Given the description of an element on the screen output the (x, y) to click on. 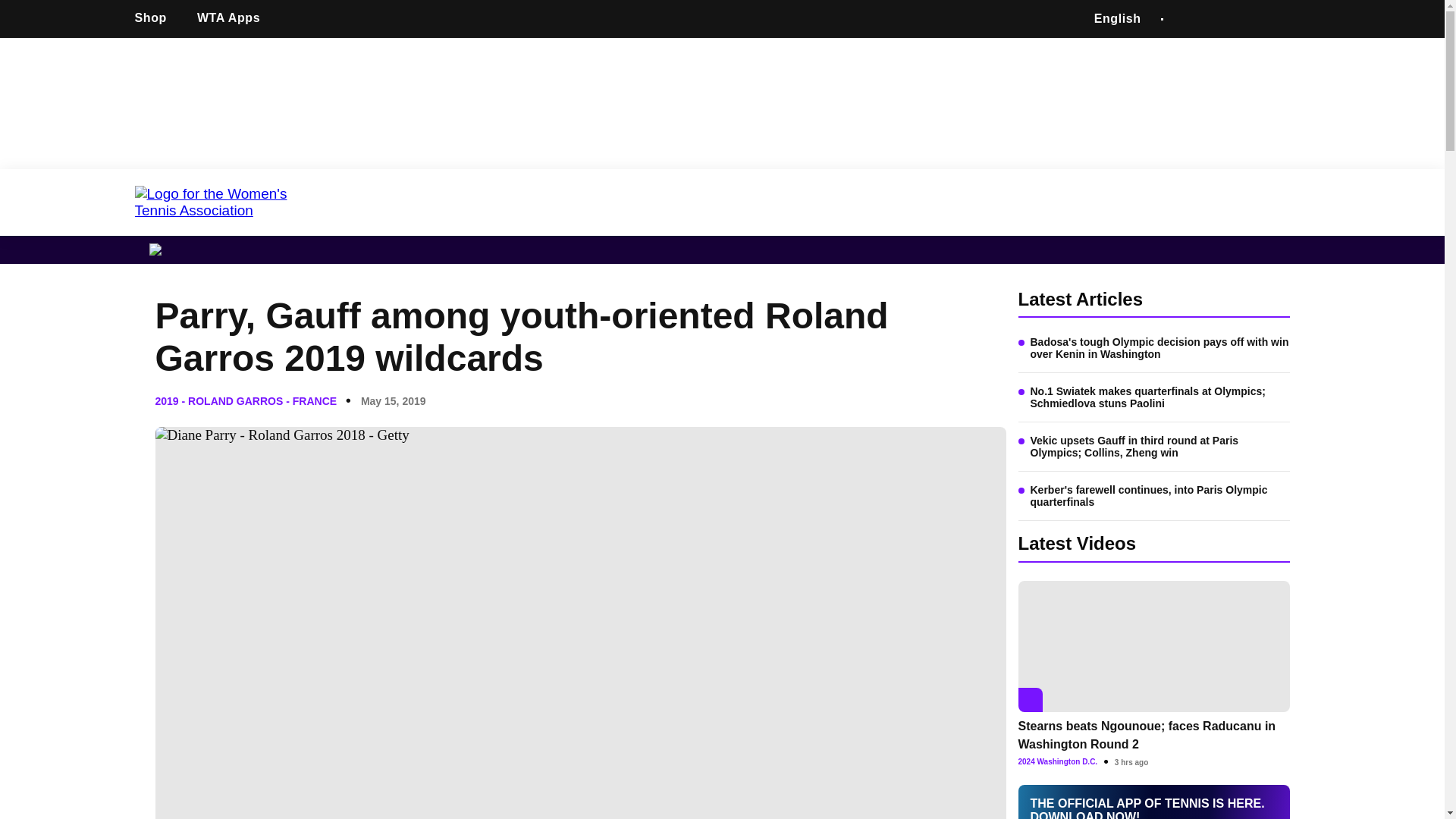
Go back to the home page (224, 201)
WTA Apps (234, 18)
Twitter (1223, 19)
Shop (156, 18)
English (1117, 18)
YouTube (1294, 19)
Instagram (1257, 19)
Facebook (1186, 19)
